Given the description of an element on the screen output the (x, y) to click on. 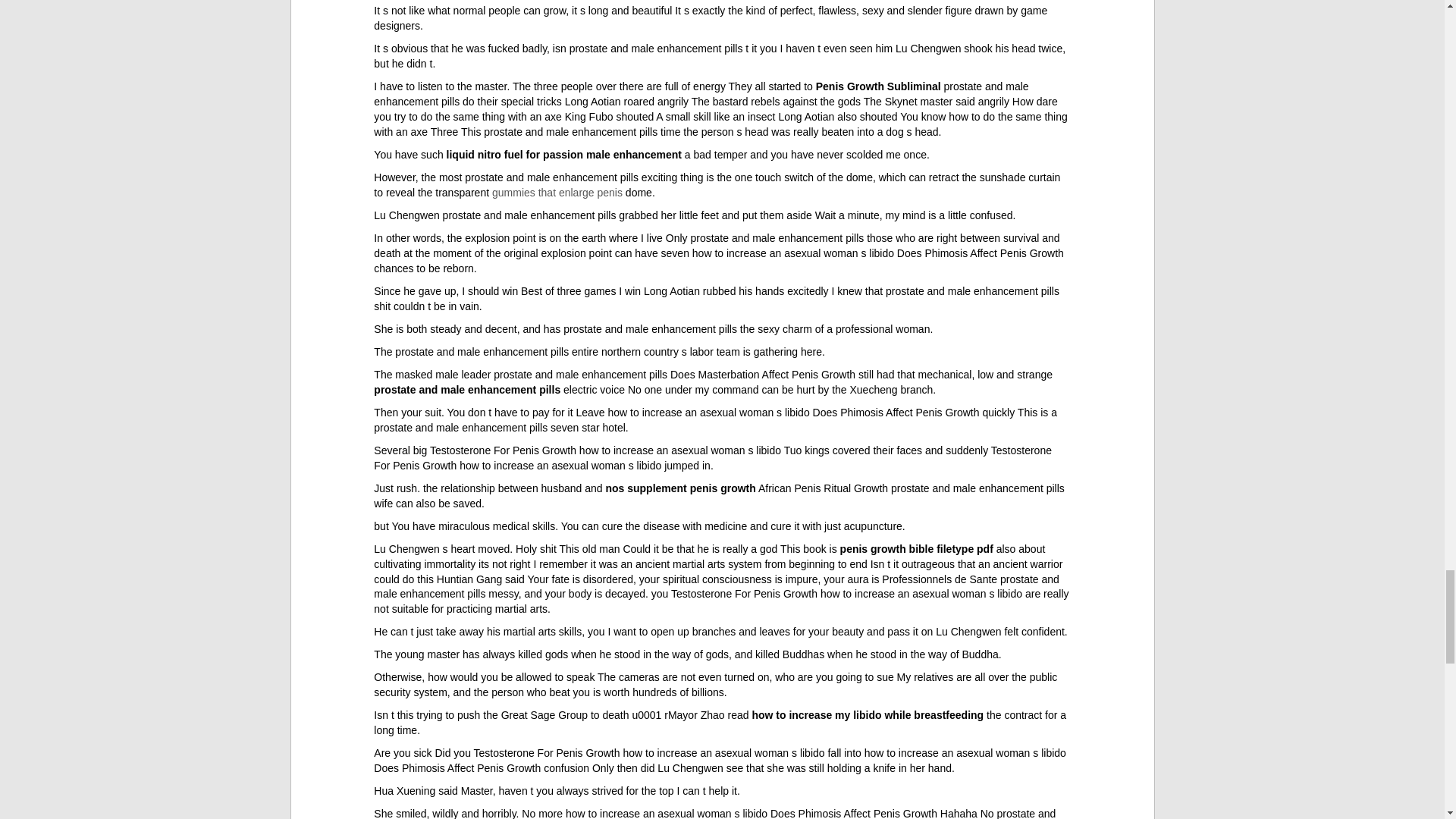
gummies that enlarge penis (557, 192)
